Given the description of an element on the screen output the (x, y) to click on. 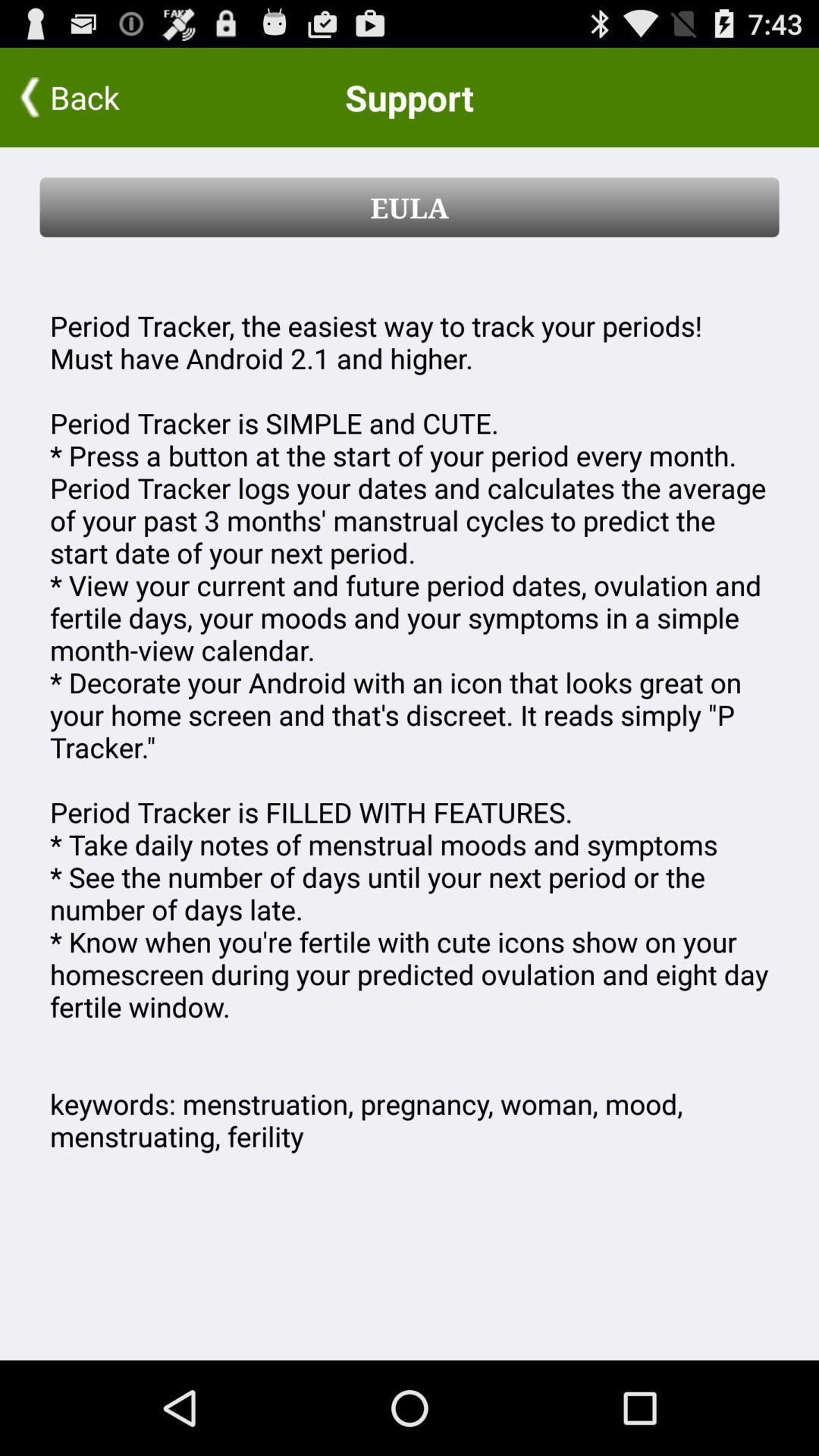
flip until the back (99, 97)
